Given the description of an element on the screen output the (x, y) to click on. 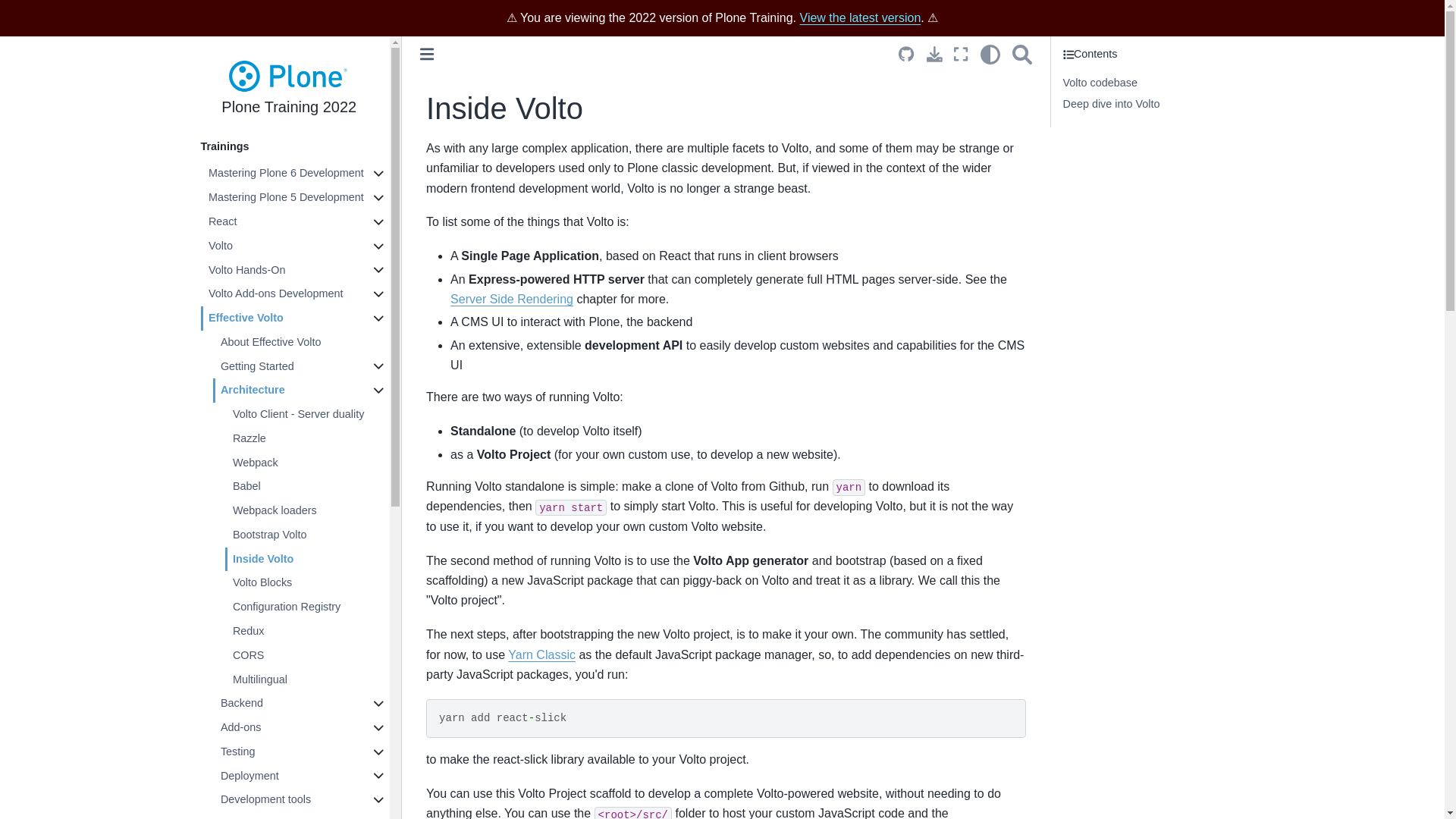
Mastering Plone 6 Development (295, 173)
View the latest version (859, 17)
Plone Training 2022 (288, 90)
